Given the description of an element on the screen output the (x, y) to click on. 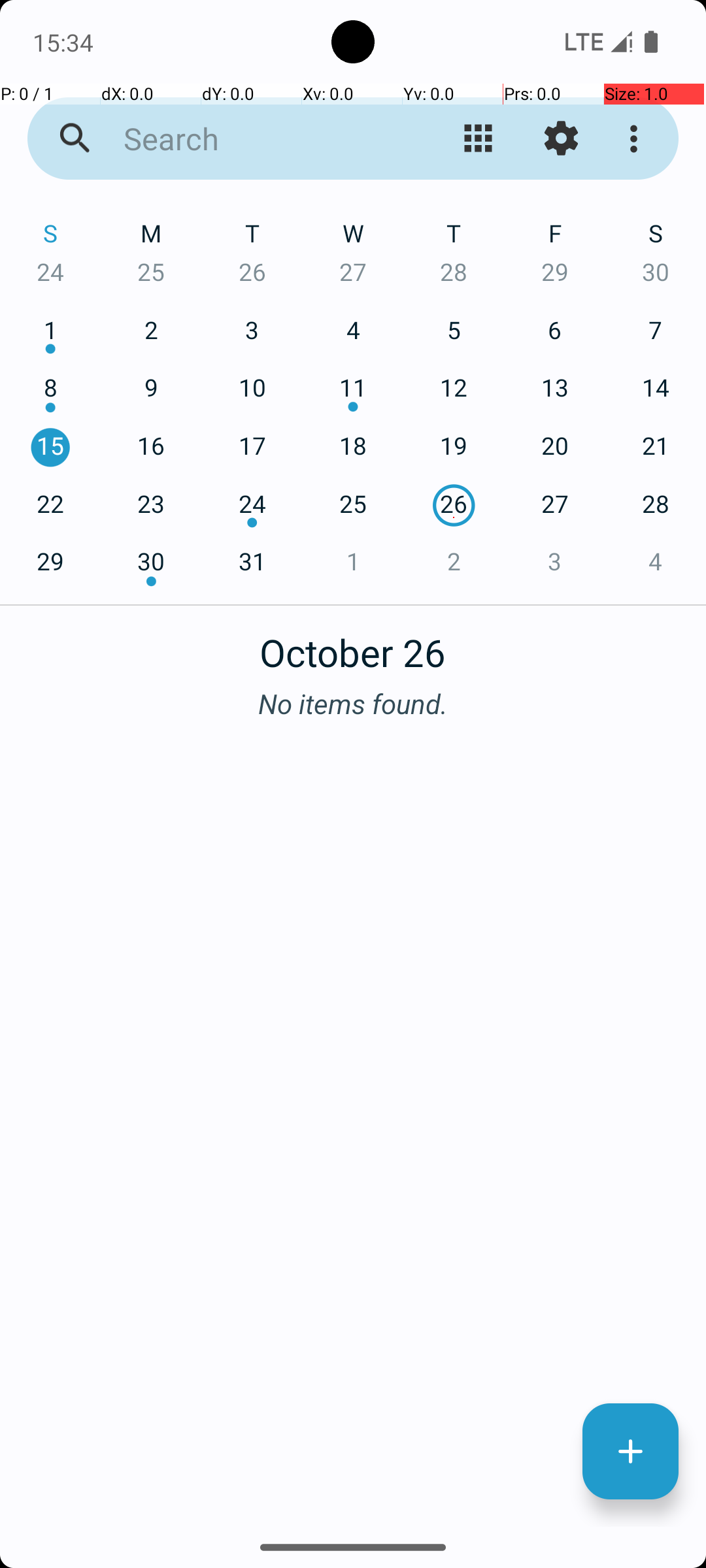
October 26 Element type: android.widget.TextView (352, 644)
